Given the description of an element on the screen output the (x, y) to click on. 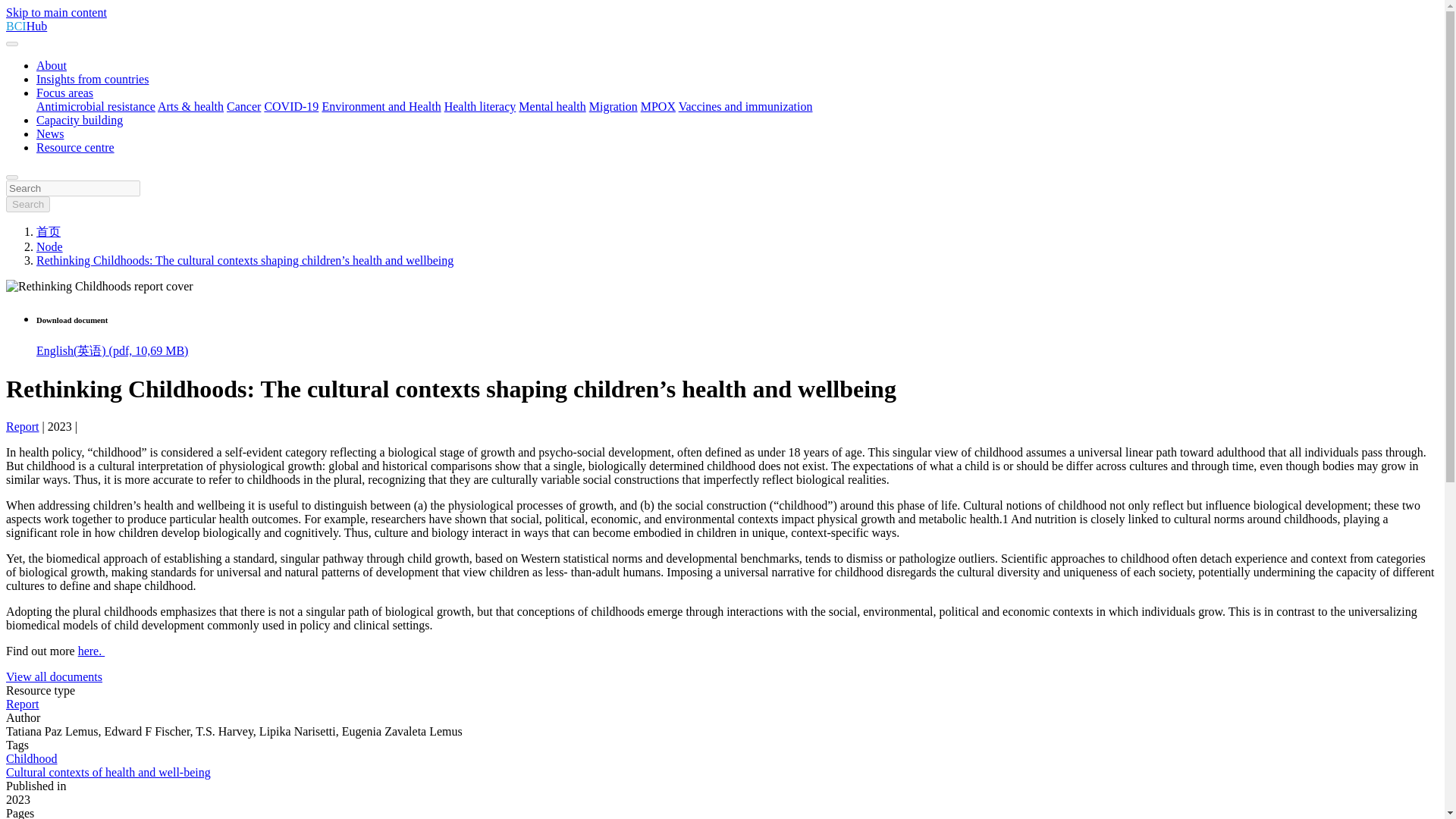
Capacity building (79, 119)
Skip to main content (55, 11)
Focus areas (64, 92)
Search (27, 204)
BCIHub (25, 25)
MPOX (657, 106)
Report (22, 703)
COVID-19 (290, 106)
Antimicrobial resistance (95, 106)
here.  (91, 650)
Report (22, 426)
News (50, 133)
Health literacy (480, 106)
Childhood (31, 758)
Node (49, 246)
